Given the description of an element on the screen output the (x, y) to click on. 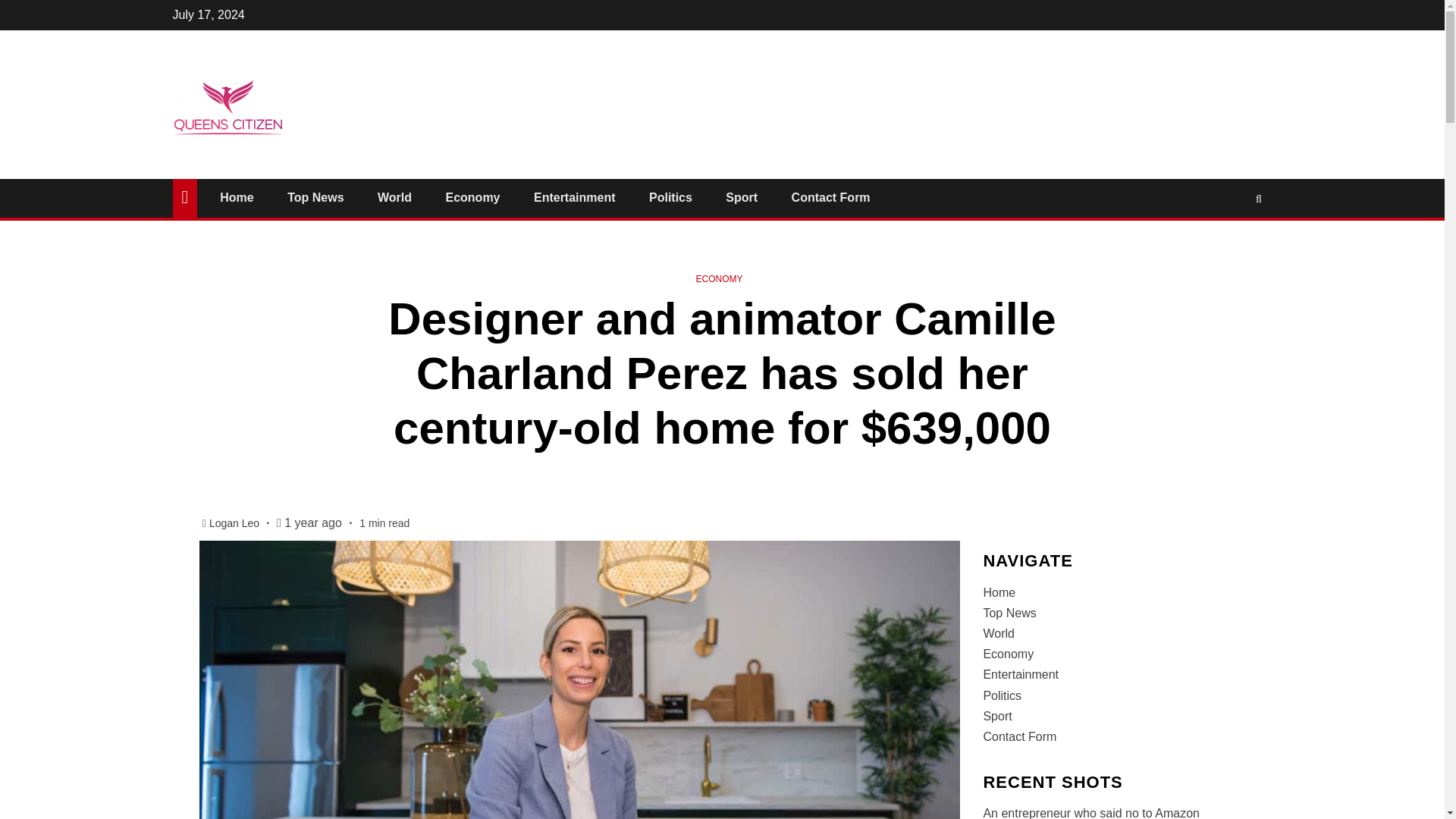
Top News (314, 196)
Home (236, 196)
Search (1229, 244)
Sport (741, 196)
Logan Leo (235, 522)
Politics (671, 196)
ECONOMY (718, 278)
Entertainment (574, 196)
Contact Form (831, 196)
World (394, 196)
Economy (472, 196)
